Given the description of an element on the screen output the (x, y) to click on. 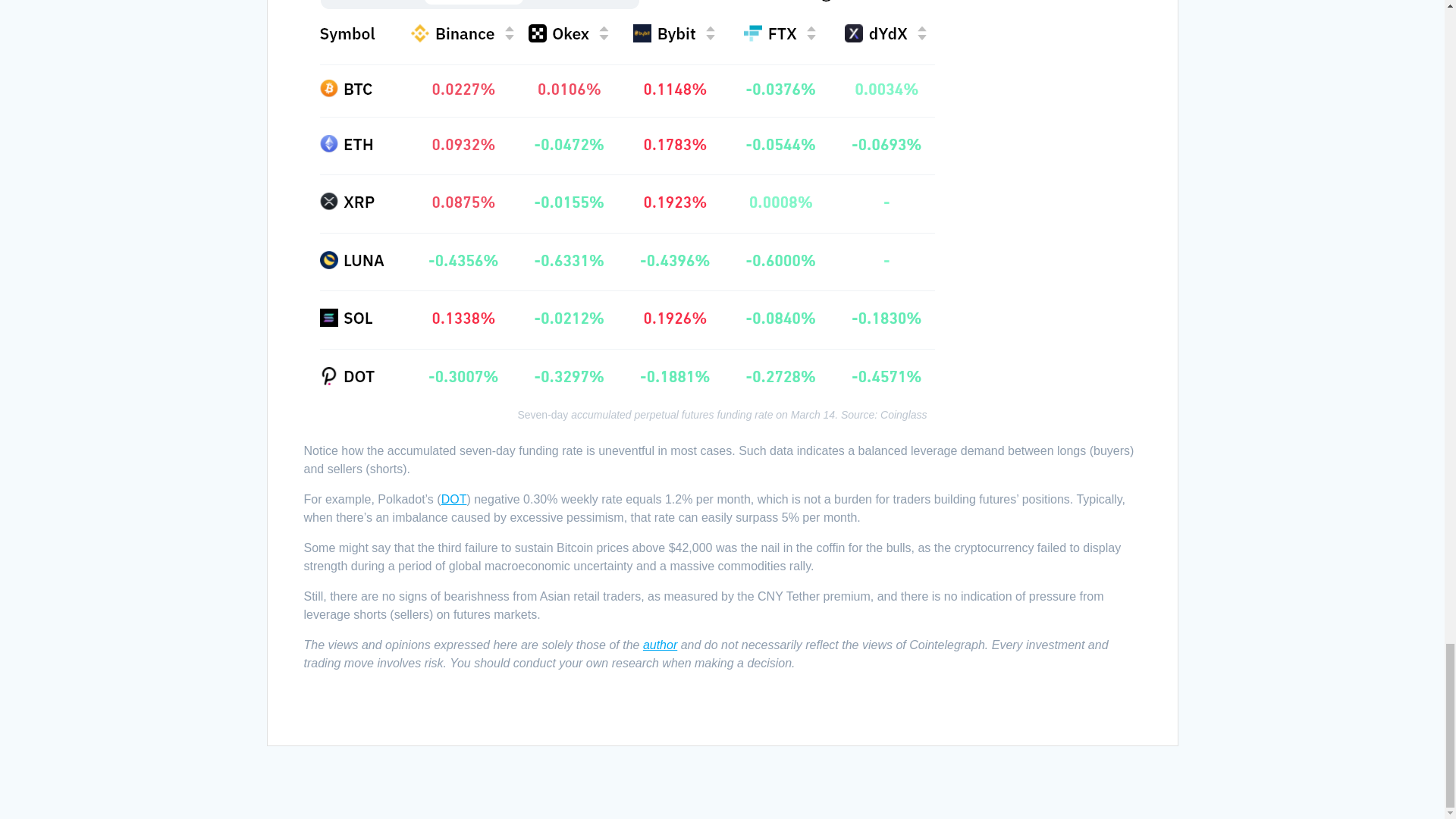
DOT (454, 499)
author (660, 644)
